Given the description of an element on the screen output the (x, y) to click on. 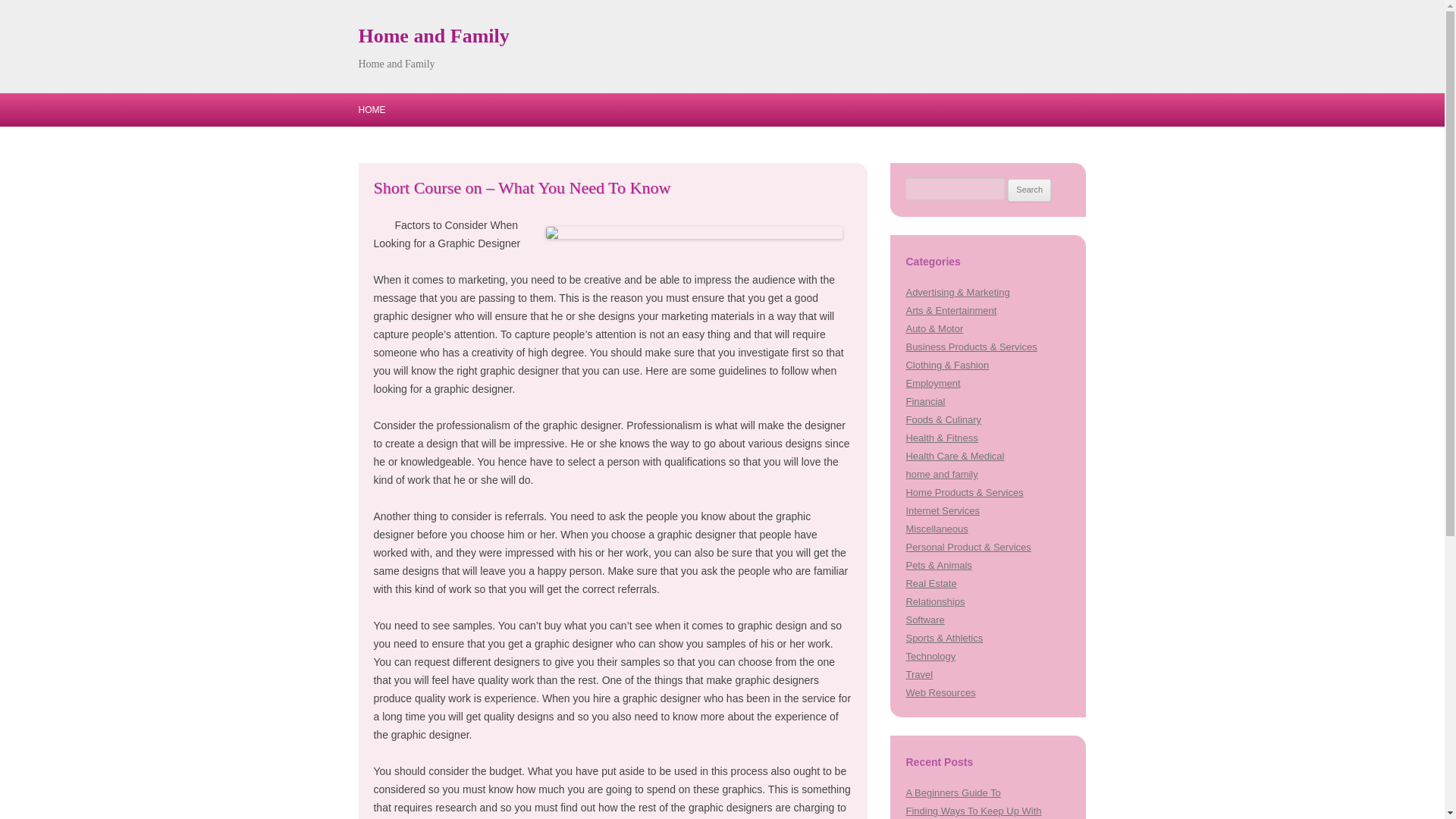
Web Resources (940, 692)
Home and Family (433, 36)
home and family (940, 473)
Travel (919, 674)
Home and Family (433, 36)
Software (924, 619)
Real Estate (930, 583)
A Beginners Guide To (952, 792)
Technology (930, 655)
